Given the description of an element on the screen output the (x, y) to click on. 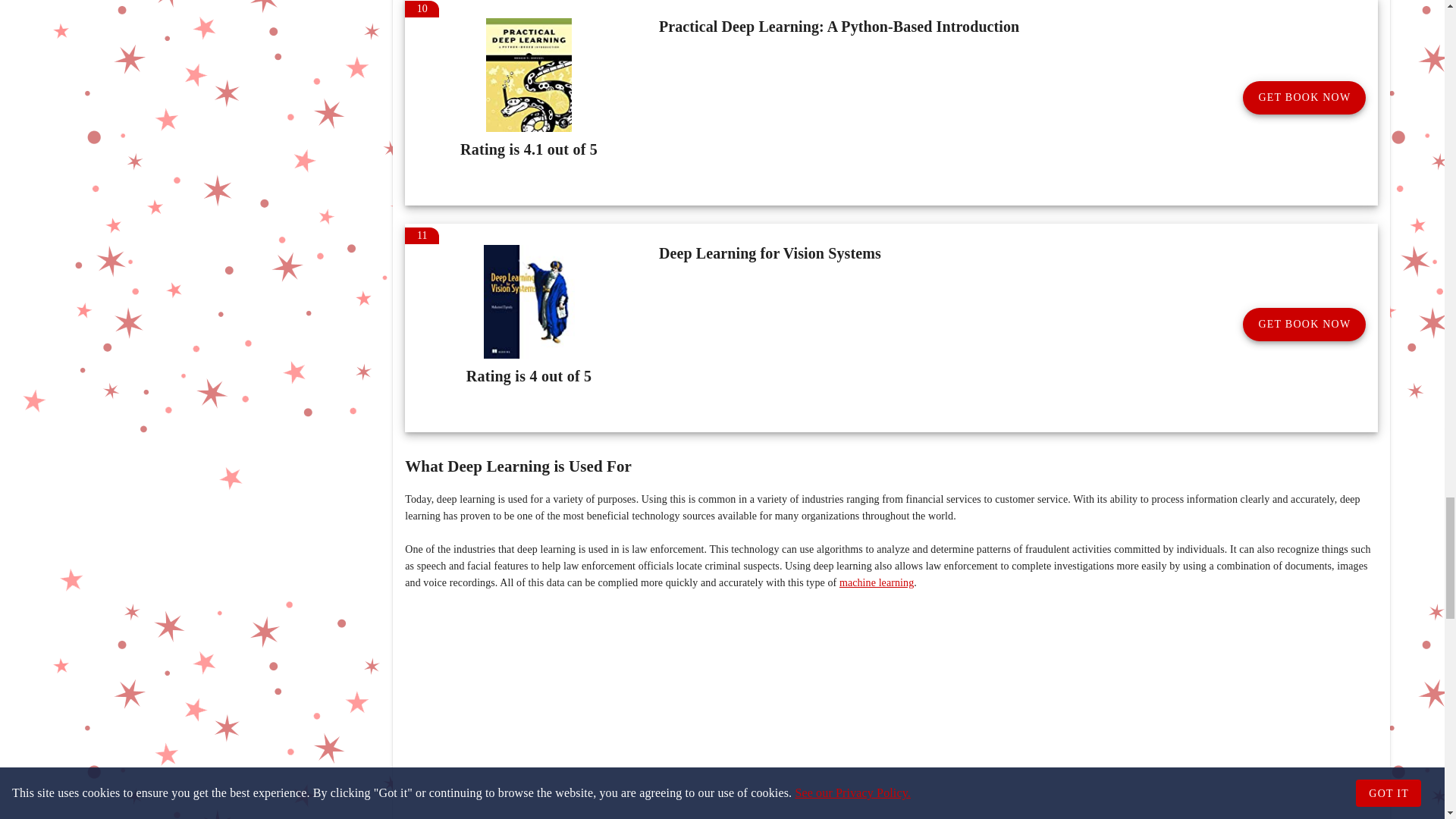
GET BOOK NOW (1304, 324)
GET BOOK NOW (1304, 97)
machine learning (877, 582)
